Given the description of an element on the screen output the (x, y) to click on. 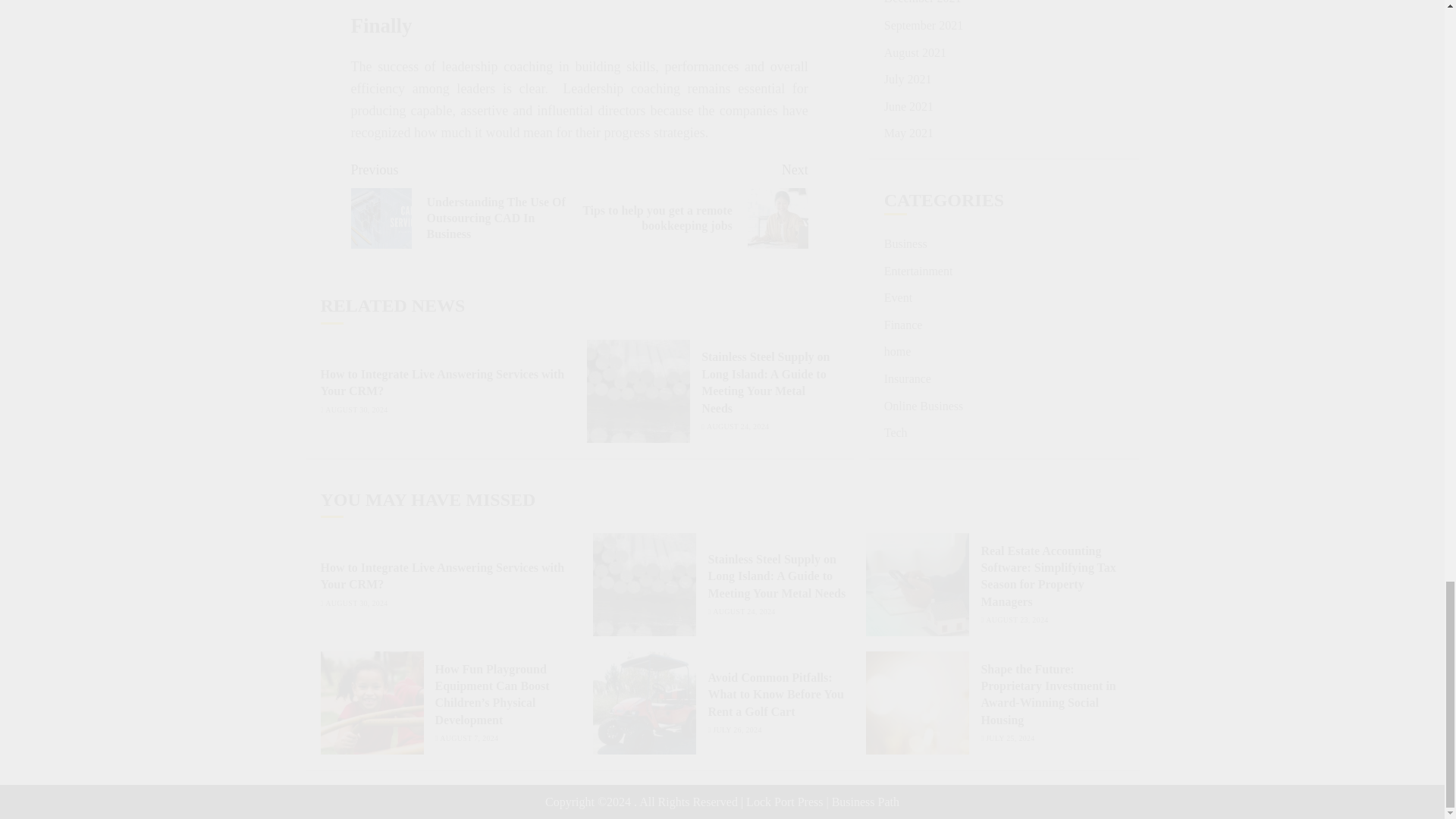
How to Integrate Live Answering Services with Your CRM? (442, 382)
AUGUST 30, 2024 (355, 409)
AUGUST 24, 2024 (737, 426)
